Given the description of an element on the screen output the (x, y) to click on. 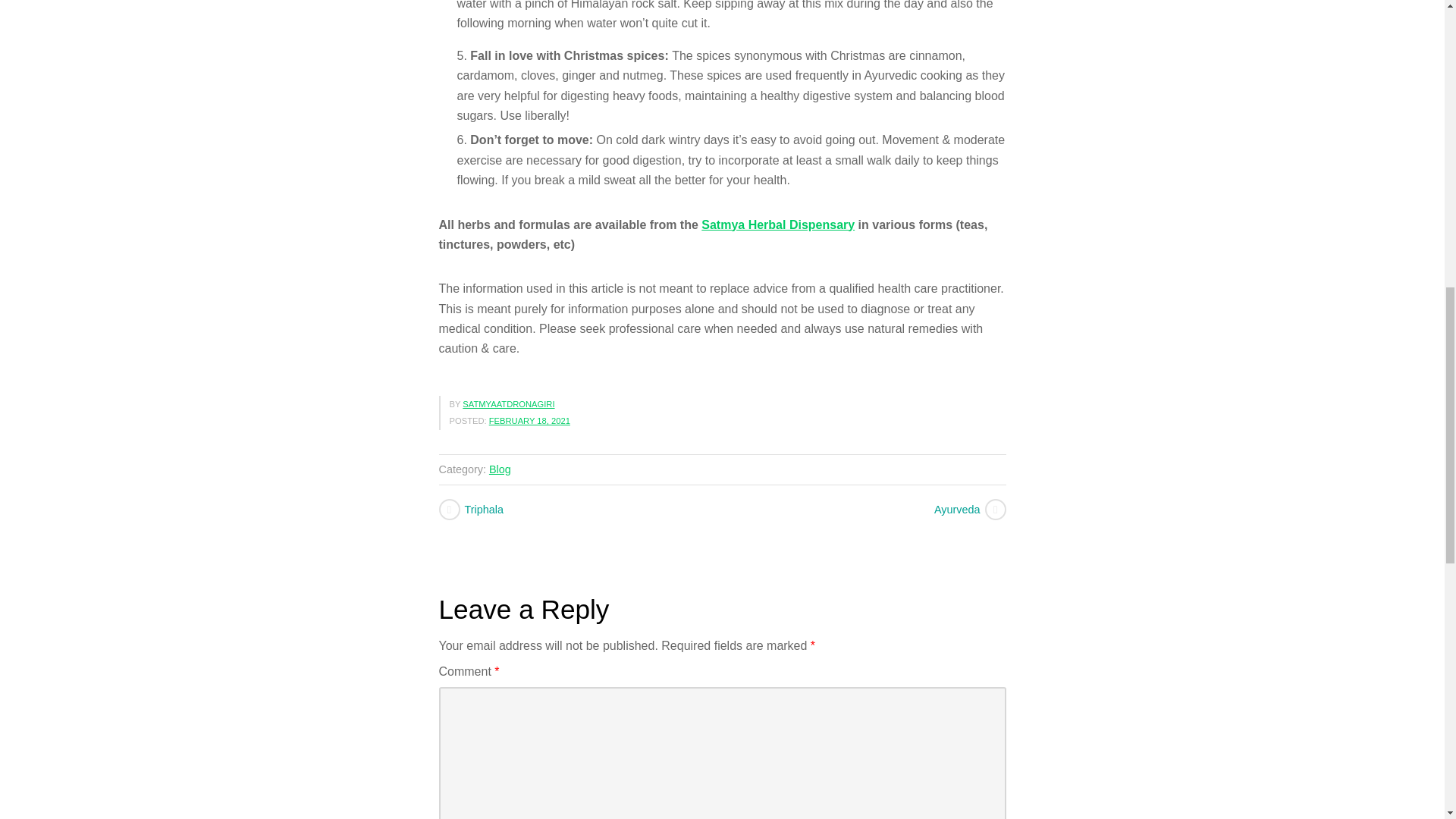
Ayurveda (862, 509)
Triphala (577, 509)
FEBRUARY 18, 2021 (529, 420)
7:22 pm (529, 420)
Posts by Satmyaatdronagiri (508, 403)
SATMYAATDRONAGIRI (508, 403)
Blog (500, 469)
Satmya Herbal Dispensary (777, 224)
